Given the description of an element on the screen output the (x, y) to click on. 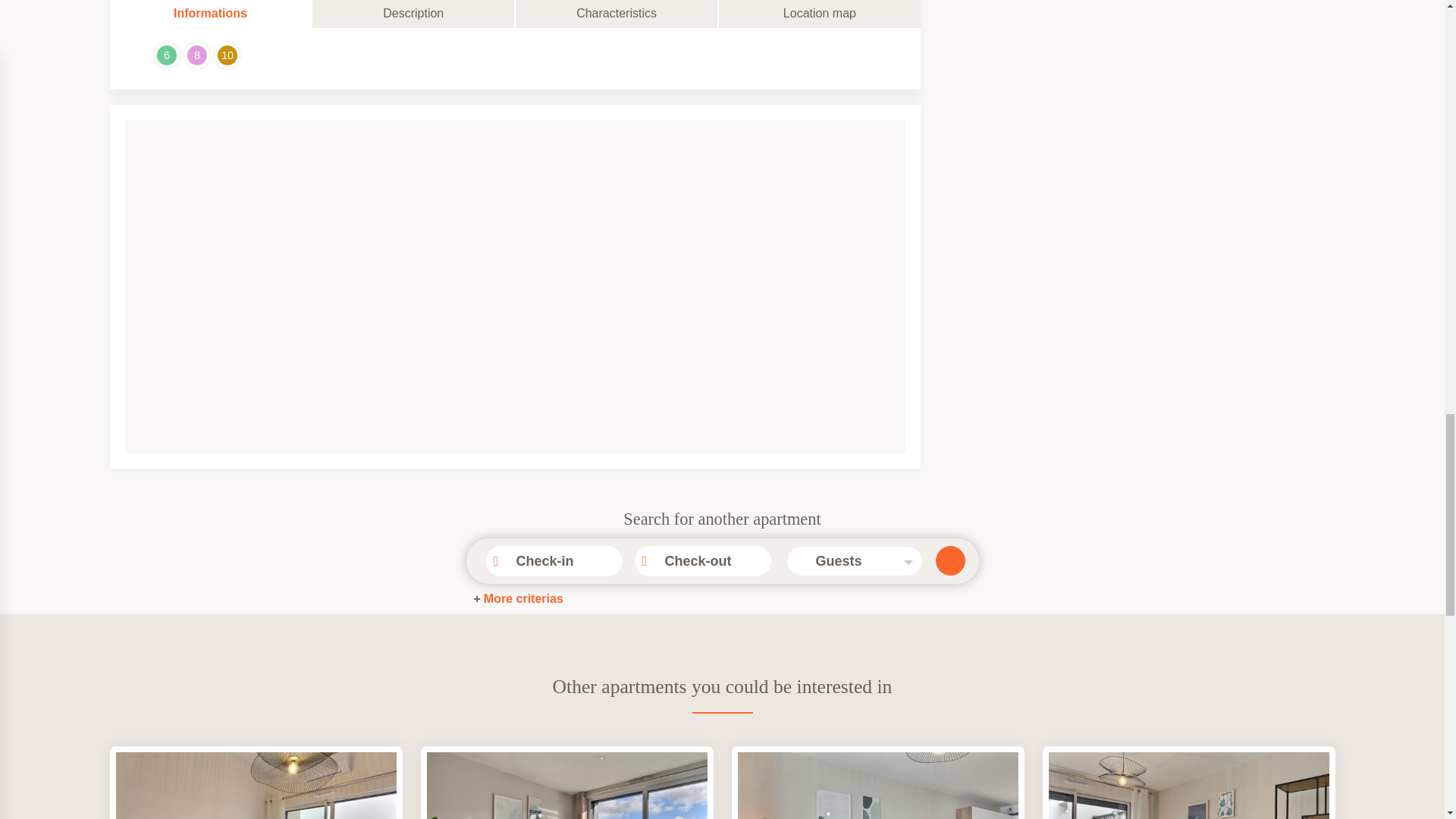
metro (134, 55)
Guests (847, 561)
More criterias (517, 598)
